Given the description of an element on the screen output the (x, y) to click on. 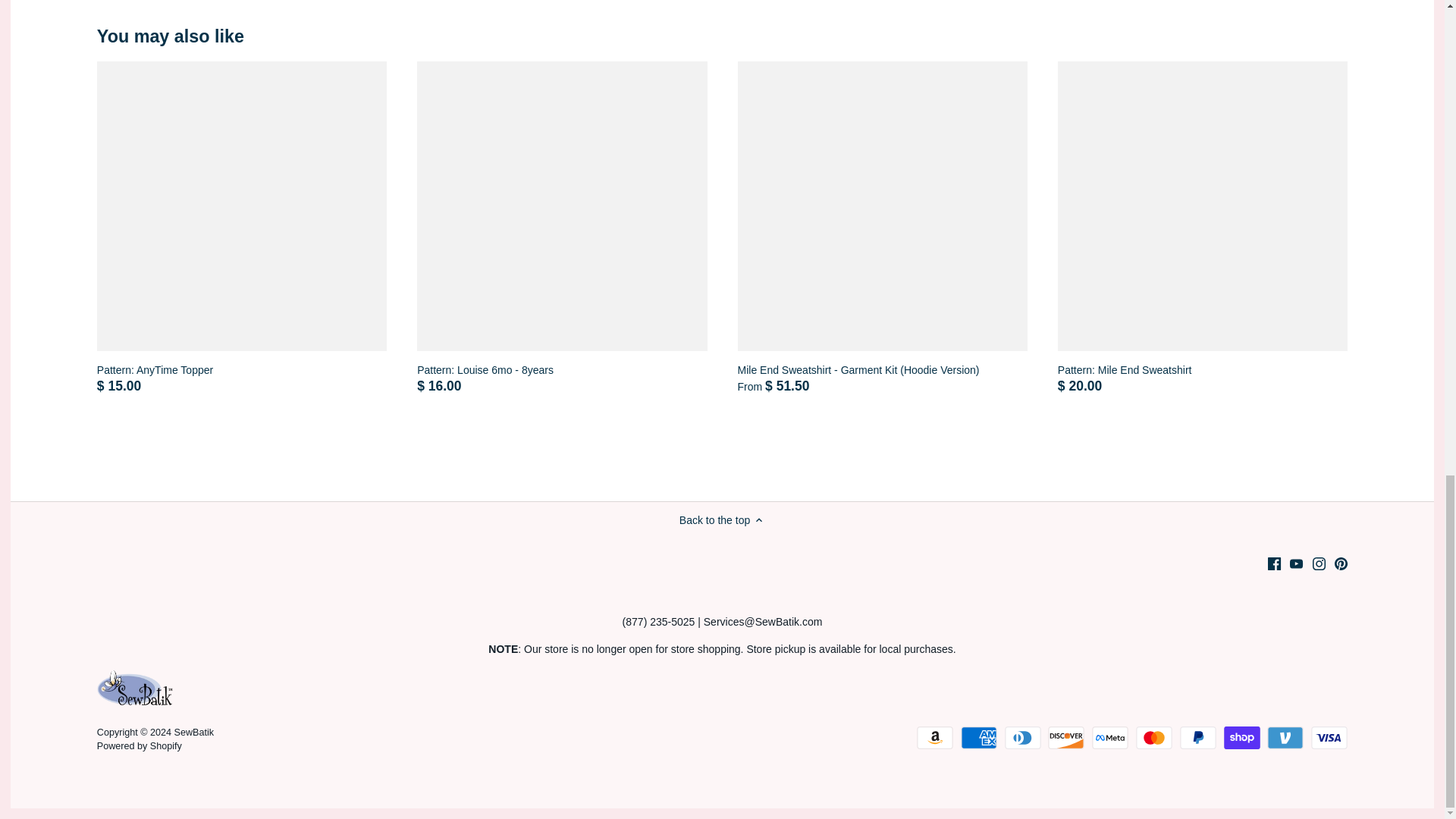
Facebook (1274, 563)
Youtube (1296, 563)
Instagram (1318, 563)
